Given the description of an element on the screen output the (x, y) to click on. 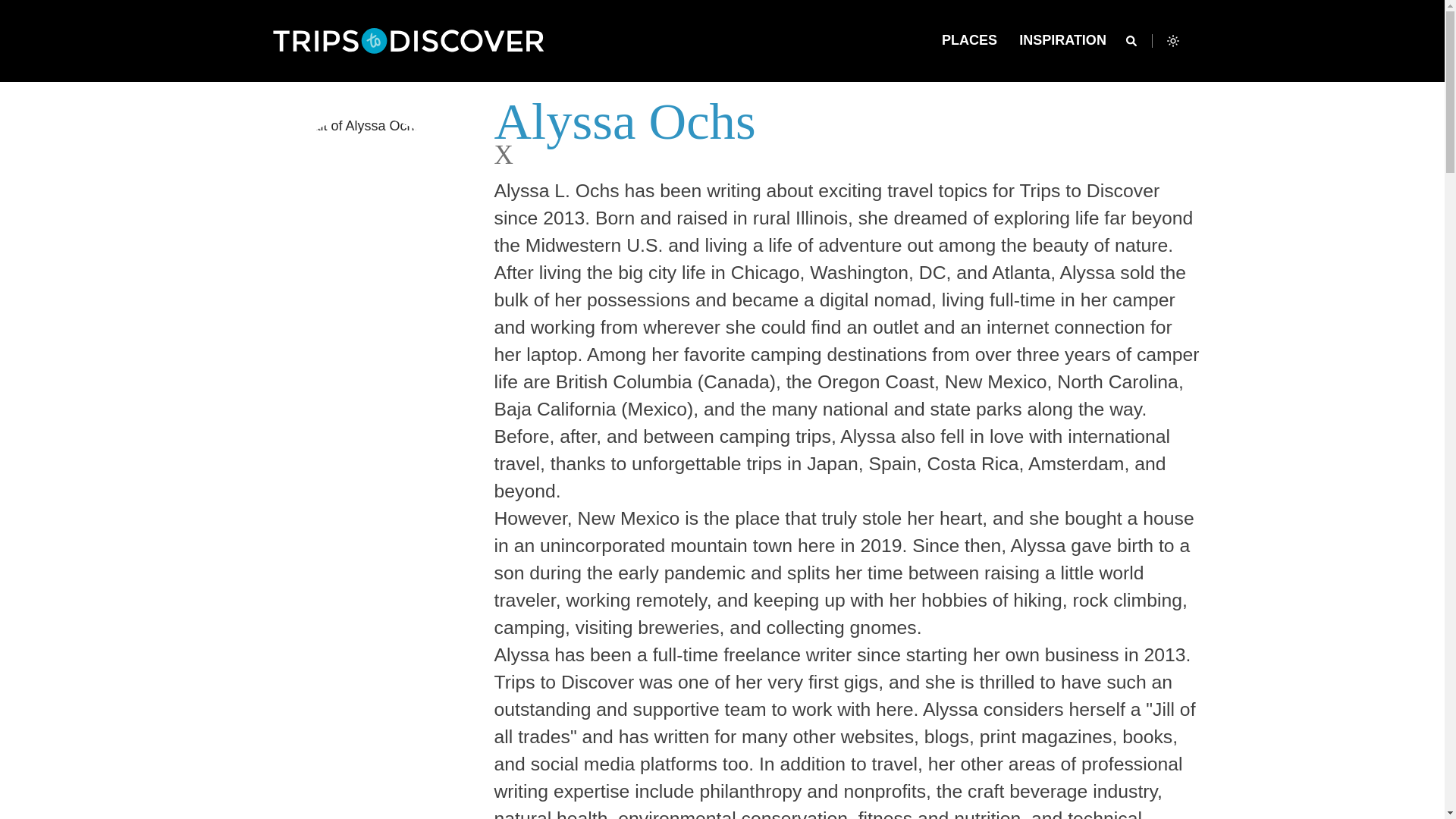
Alyssa Ochs's Website (506, 154)
